Given the description of an element on the screen output the (x, y) to click on. 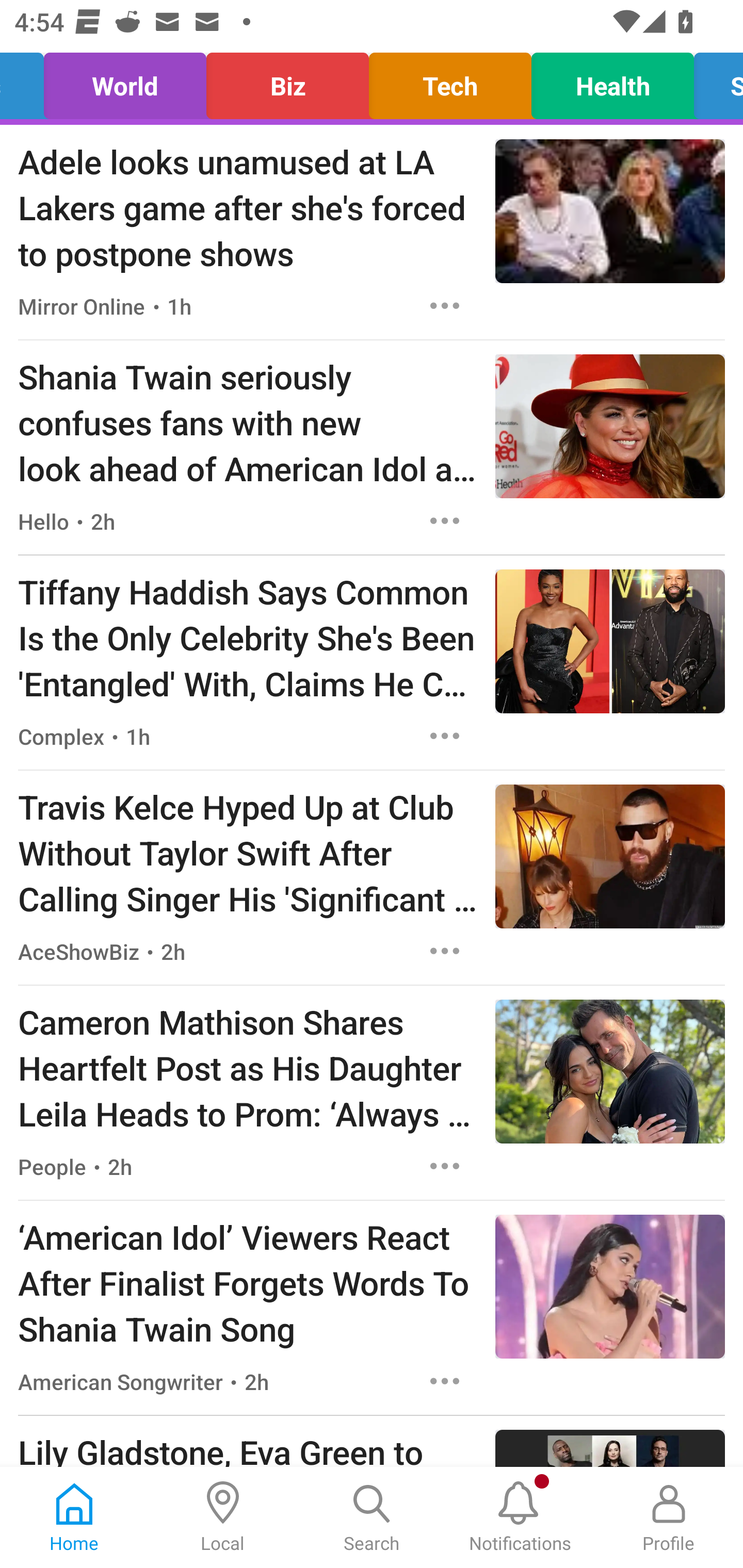
World (124, 81)
Biz (287, 81)
Tech (450, 81)
Health (612, 81)
Options (444, 305)
Options (444, 520)
Options (444, 736)
Options (444, 950)
Options (444, 1166)
Options (444, 1381)
Local (222, 1517)
Search (371, 1517)
Notifications, New notification Notifications (519, 1517)
Profile (668, 1517)
